Given the description of an element on the screen output the (x, y) to click on. 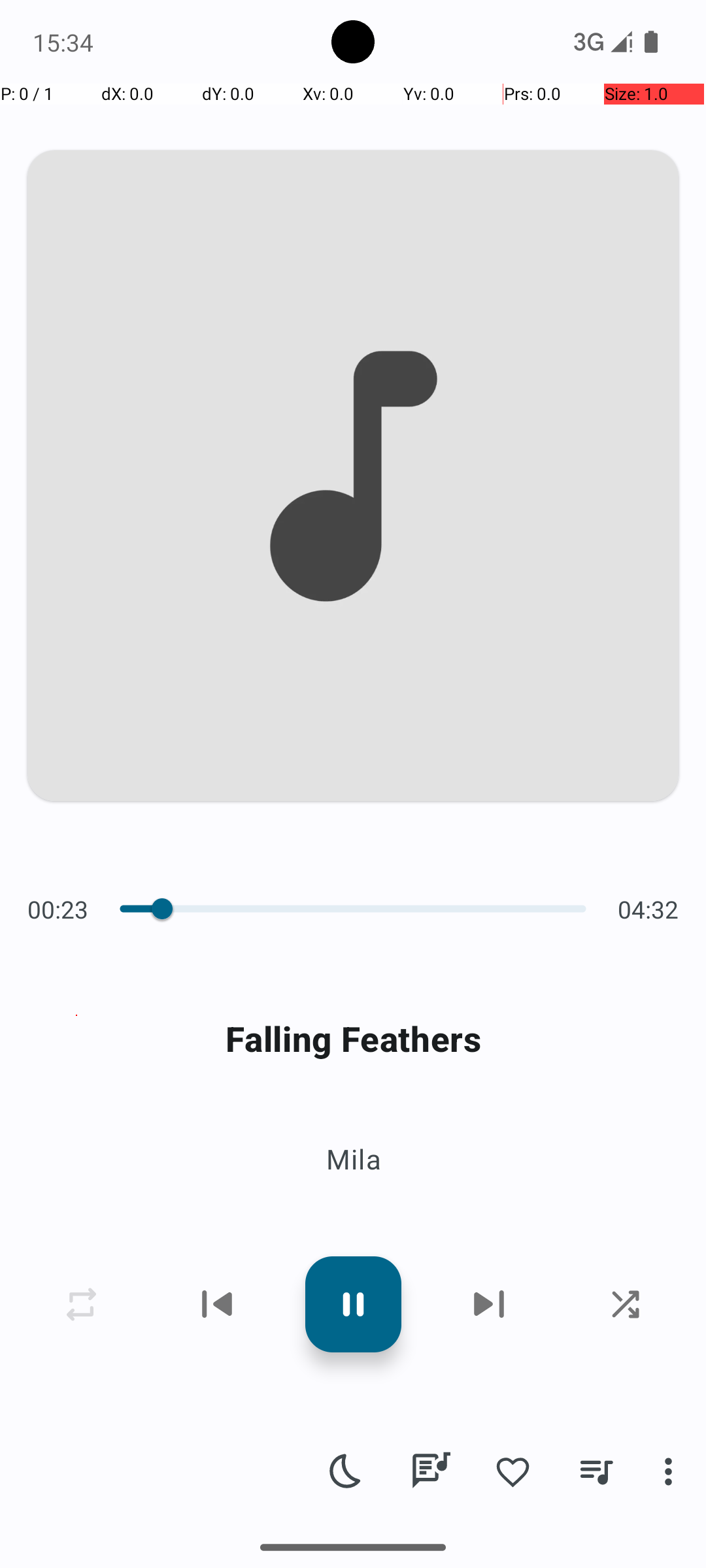
00:23 Element type: android.widget.TextView (61, 908)
04:32 Element type: android.widget.TextView (643, 908)
Falling Feathers Element type: android.widget.TextView (352, 1038)
Mila Element type: android.widget.TextView (352, 1158)
Sleep timer Element type: android.widget.Button (346, 1471)
Lyrics Element type: android.widget.Button (429, 1471)
Add to favorites Element type: android.widget.Button (512, 1471)
Now playing queue Element type: android.widget.Button (595, 1471)
Value, 13003 Element type: android.widget.SeekBar (144, 908)
Mohammad Element type: android.widget.TextView (147, 1503)
